Given the description of an element on the screen output the (x, y) to click on. 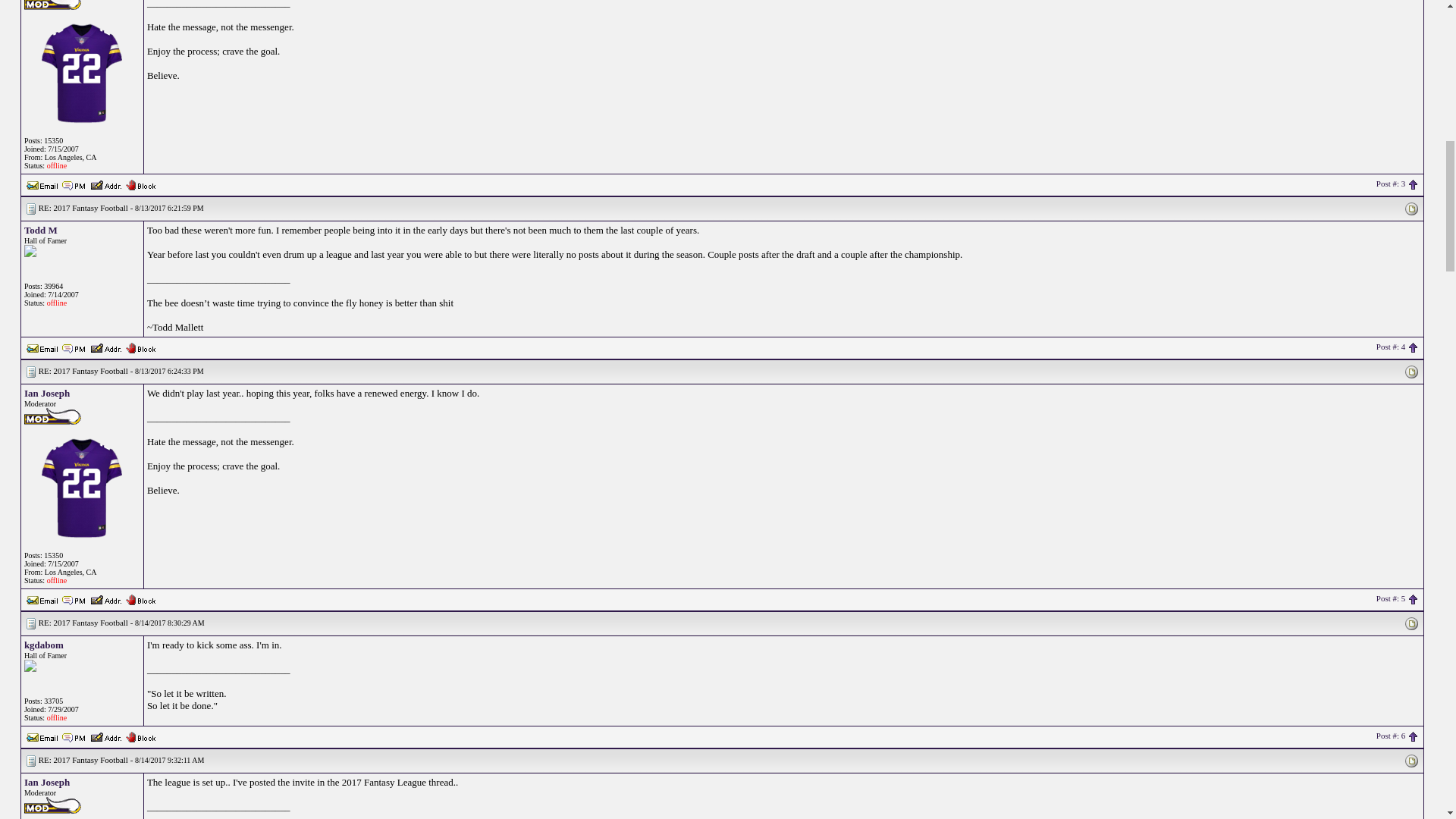
Send Private Message (74, 347)
Block this guy and hide his messages (140, 183)
Add Member To Contact List (105, 346)
Send Private Message (74, 184)
Send Private Message (74, 599)
Block this guy and hide his messages (140, 597)
Add Member To Contact List (105, 183)
Add Member To Contact List (105, 597)
E-mail  Todd M (42, 346)
E-mail  Ian Joseph (42, 597)
